Given the description of an element on the screen output the (x, y) to click on. 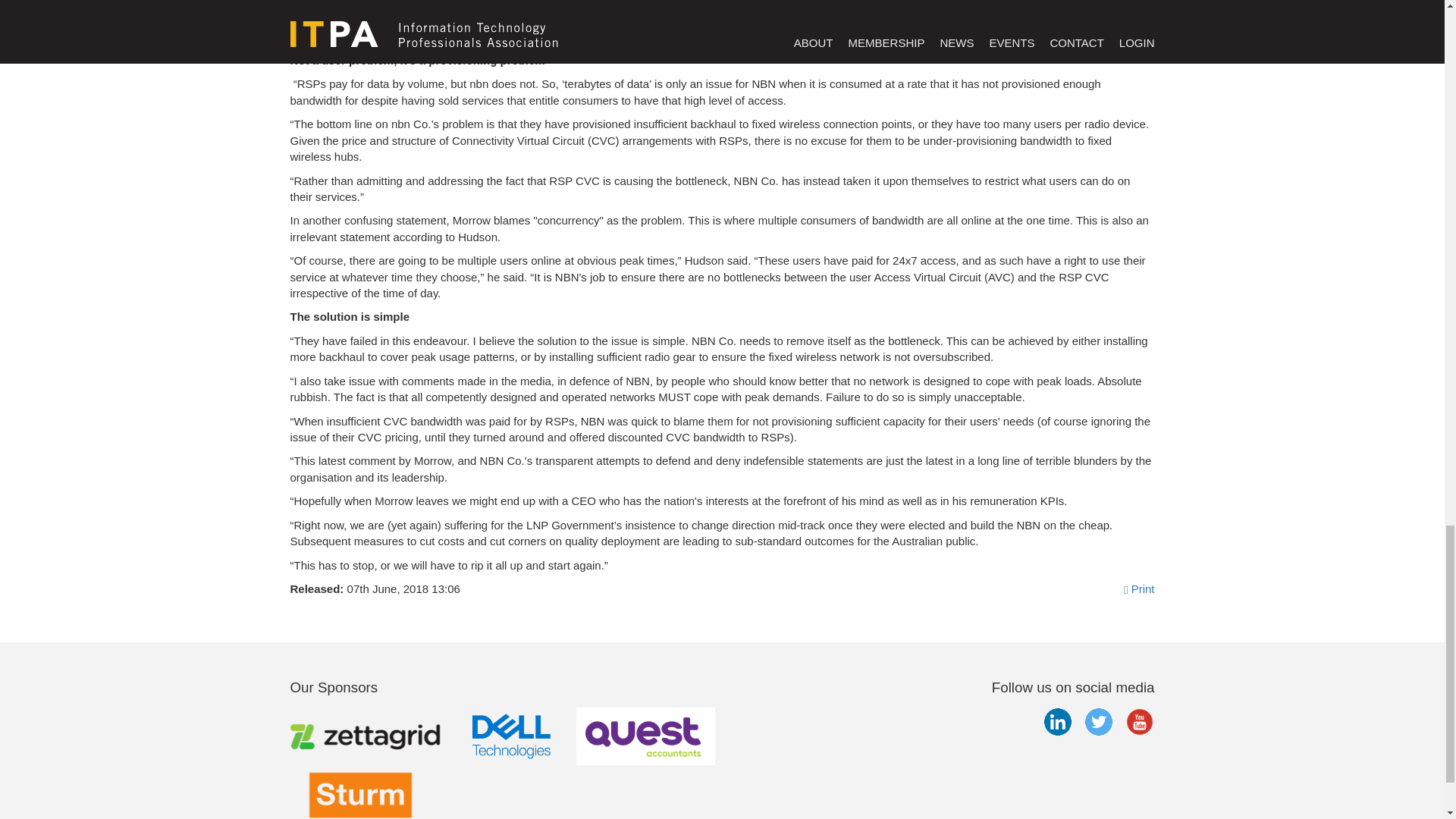
Zettagrid (367, 735)
Quest Accountants (645, 735)
Sturm Software Engineering (360, 798)
Print (1139, 588)
Quest Accountants (645, 735)
Dell (511, 736)
Sturm Software Engineering (360, 791)
Dell Technologies (511, 735)
